Given the description of an element on the screen output the (x, y) to click on. 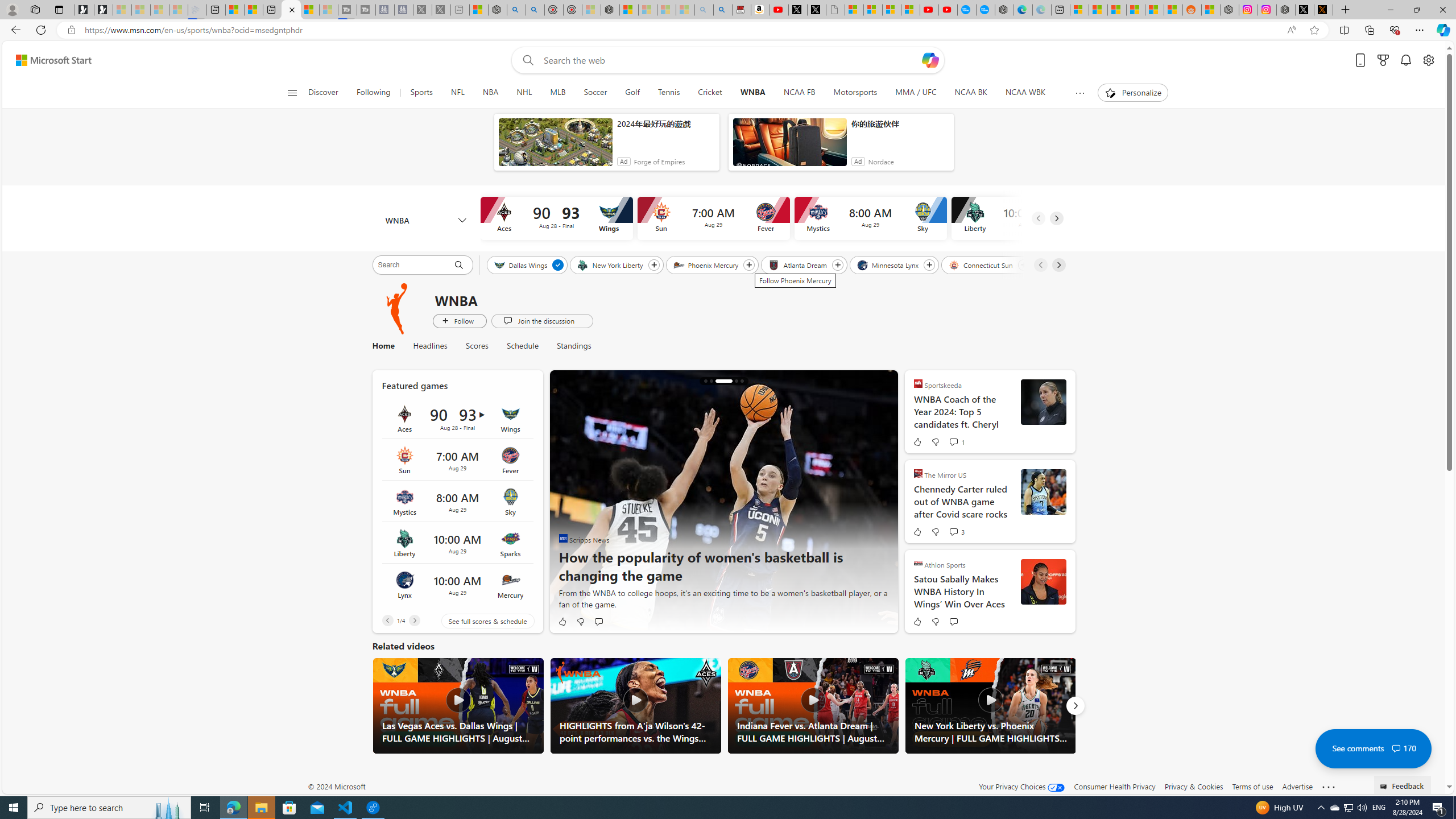
Sportskeeda (917, 383)
Standings (569, 345)
Terms of use (1252, 786)
Your Privacy Choices (1021, 785)
NCAA WBK (1024, 92)
Atlanta Dream (798, 264)
Class: cwt-icon-vector (1395, 748)
YouTube Kids - An App Created for Kids to Explore Content (947, 9)
